Given the description of an element on the screen output the (x, y) to click on. 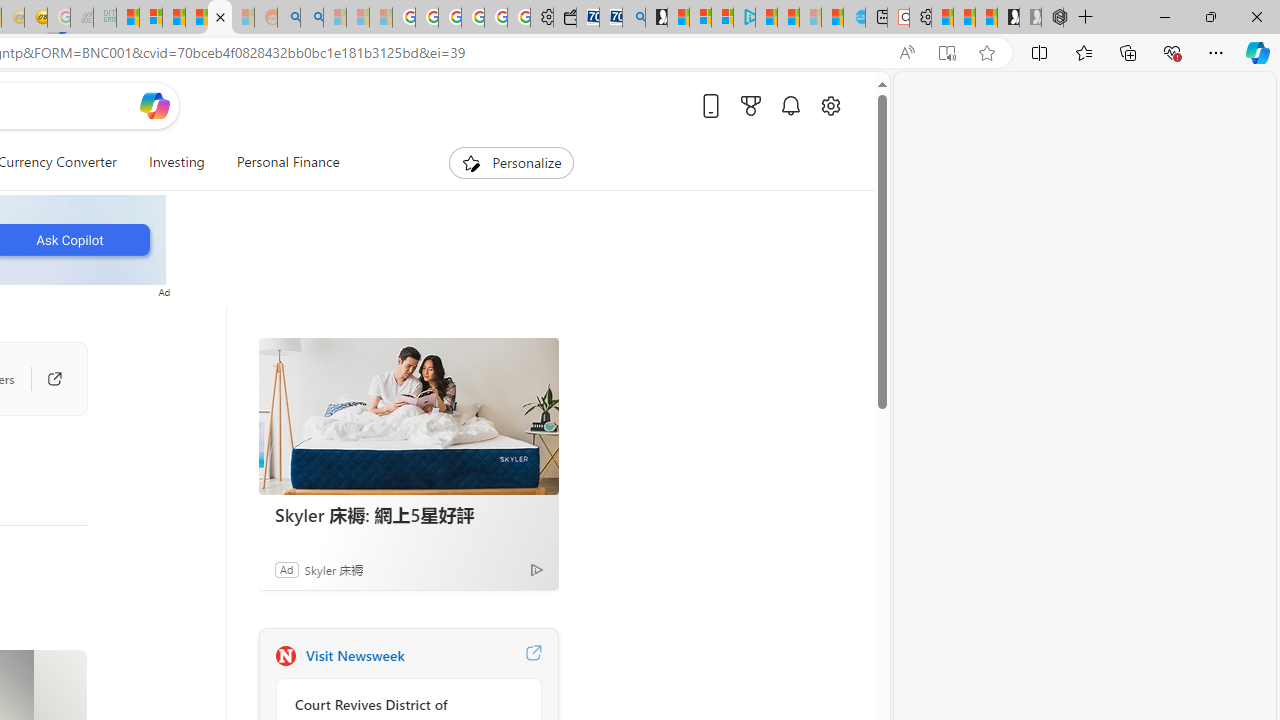
Nordace - Nordace Siena Is Not An Ordinary Backpack (1052, 17)
Microsoft Start Gaming (656, 17)
Visit Newsweek website (532, 655)
Go to publisher's site (54, 378)
Ad (286, 569)
Ad Choice (535, 569)
Microsoft Start - Sleeping (810, 17)
Enter Immersive Reader (F9) (946, 53)
Utah sues federal government - Search (311, 17)
